Given the description of an element on the screen output the (x, y) to click on. 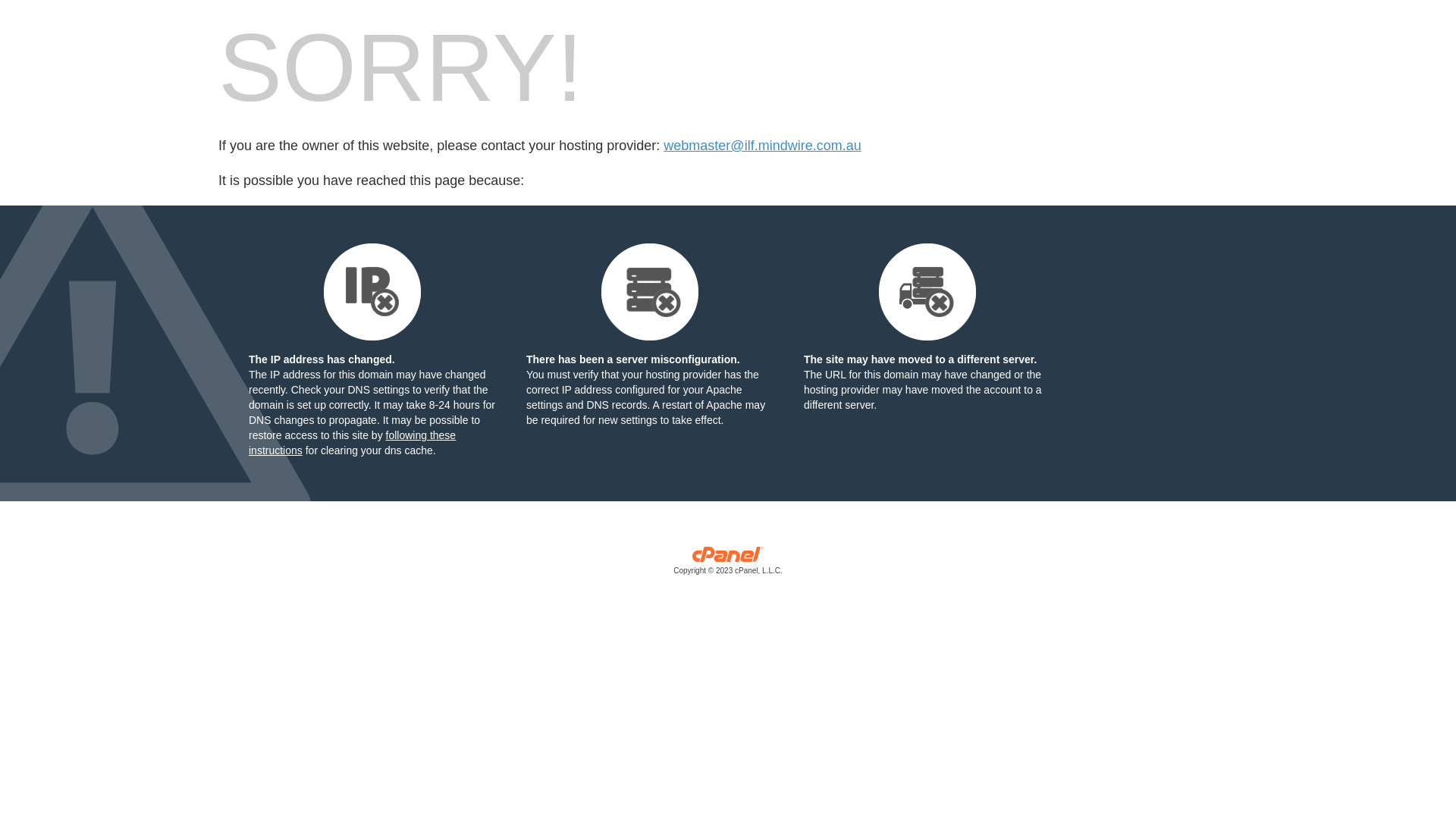
webmaster@ilf.mindwire.com.au Element type: text (761, 145)
following these instructions Element type: text (351, 442)
